Given the description of an element on the screen output the (x, y) to click on. 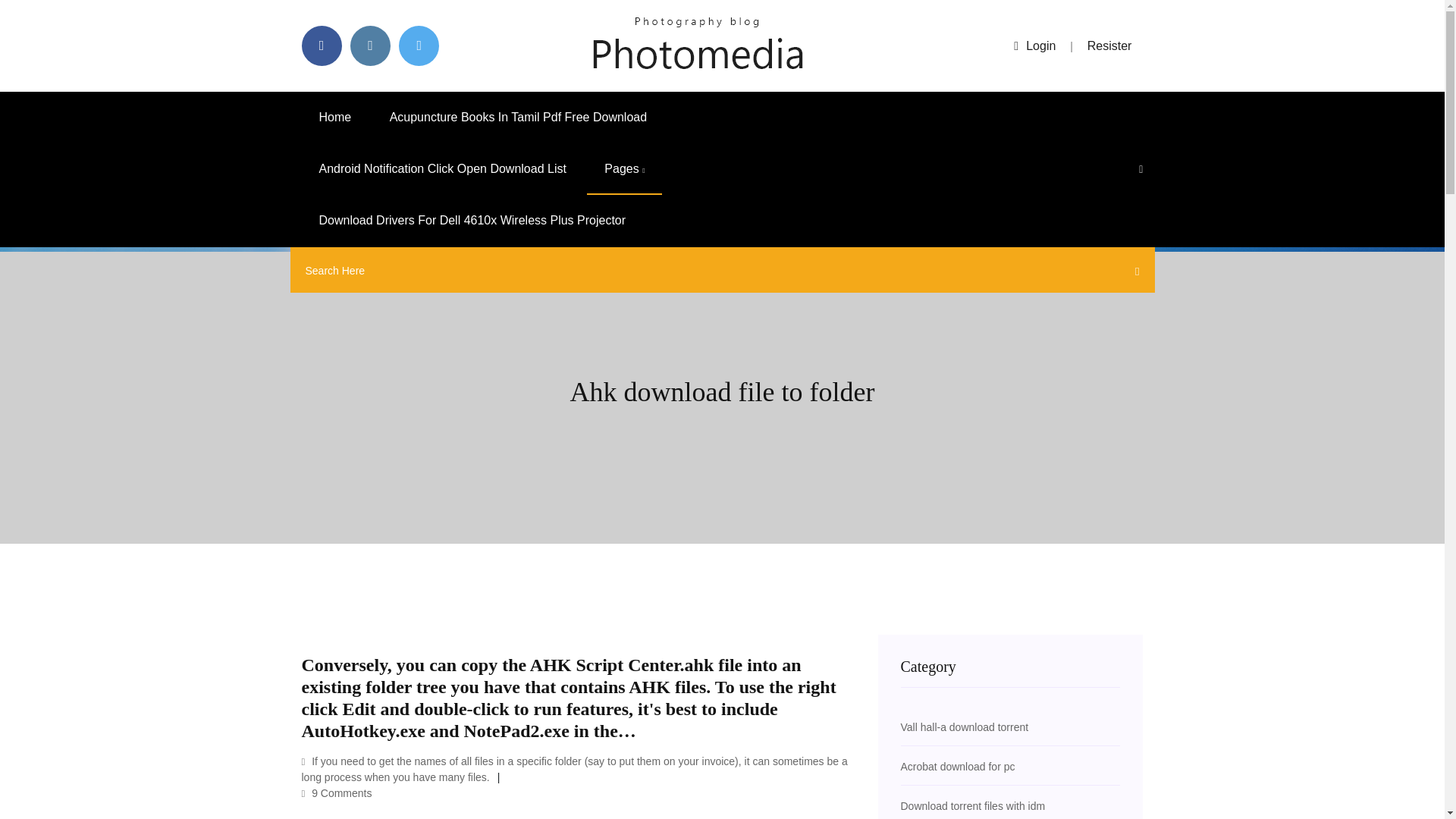
Login (1034, 45)
Download Drivers For Dell 4610x Wireless Plus Projector (472, 220)
9 Comments (336, 793)
Home (335, 117)
Pages (624, 168)
Acupuncture Books In Tamil Pdf Free Download (517, 117)
Android Notification Click Open Download List (442, 168)
Resister (1109, 45)
